Given the description of an element on the screen output the (x, y) to click on. 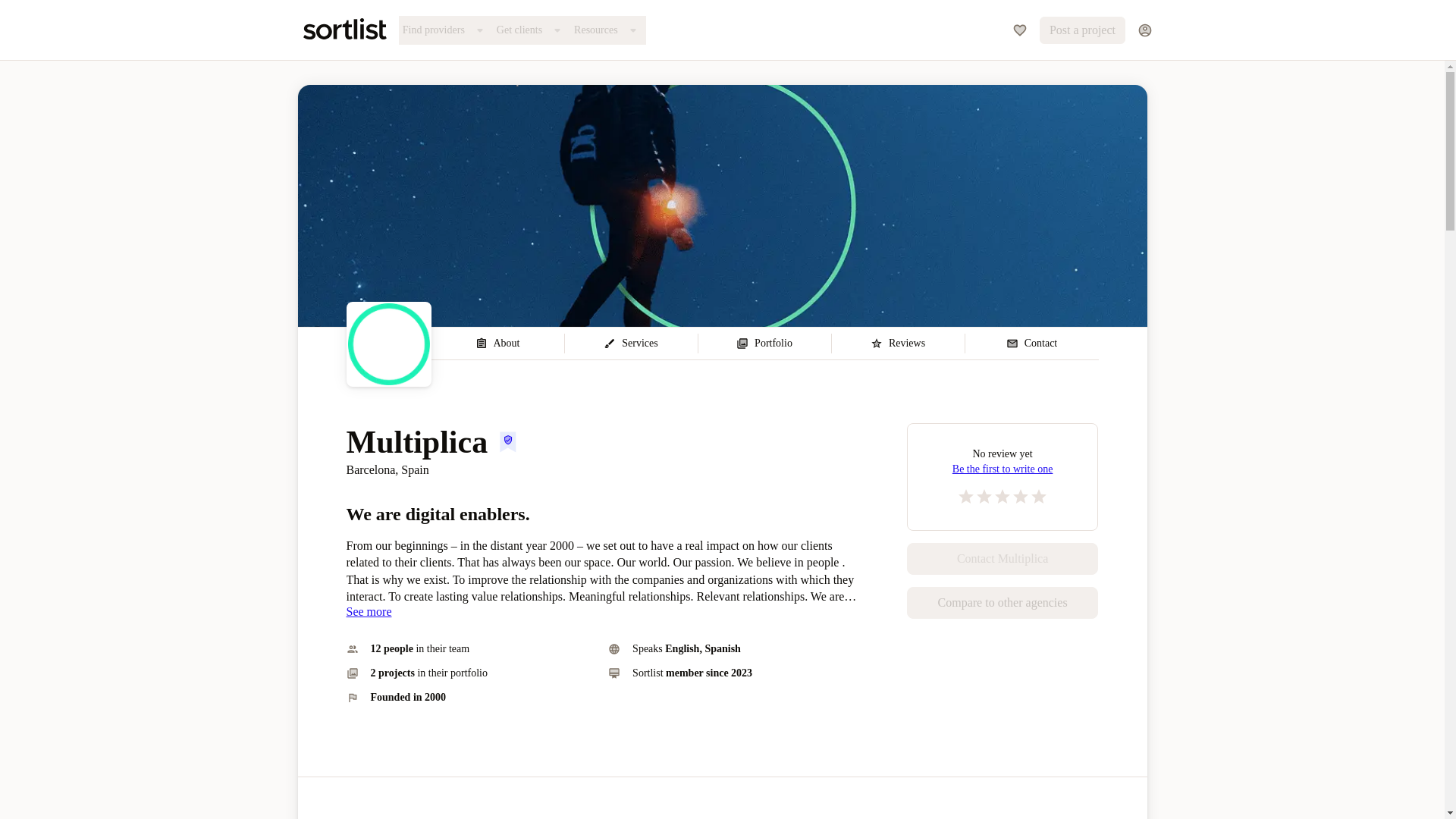
Post a project (1082, 30)
Get clients (531, 29)
Services (630, 343)
Resources (608, 29)
Reviews (897, 343)
Compare to other agencies (1003, 603)
Contact (1030, 343)
Find providers (445, 29)
12 people in their team (470, 648)
2 projects in their portfolio (470, 672)
